Given the description of an element on the screen output the (x, y) to click on. 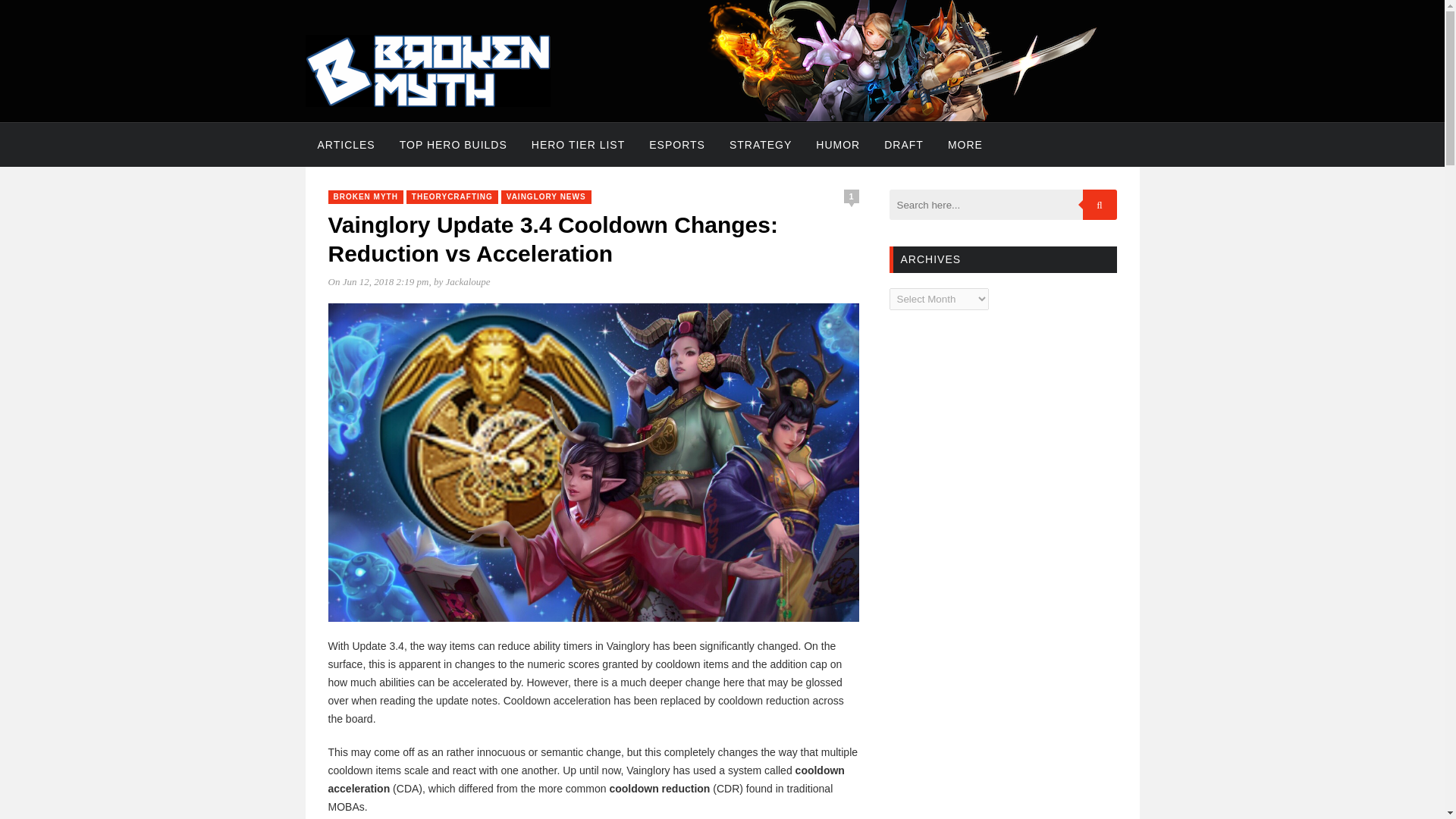
TOP HERO BUILDS (453, 144)
ARTICLES (345, 144)
ESPORTS (677, 144)
THEORYCRAFTING (451, 196)
HUMOR (837, 144)
DRAFT (904, 144)
BROKEN MYTH (365, 196)
VAINGLORY NEWS (545, 196)
MORE (965, 144)
STRATEGY (760, 144)
The Vainglory Resource (427, 102)
HERO TIER LIST (578, 144)
Jackaloupe (467, 281)
On Jun 12, 2018 2:19 pm (377, 281)
